Given the description of an element on the screen output the (x, y) to click on. 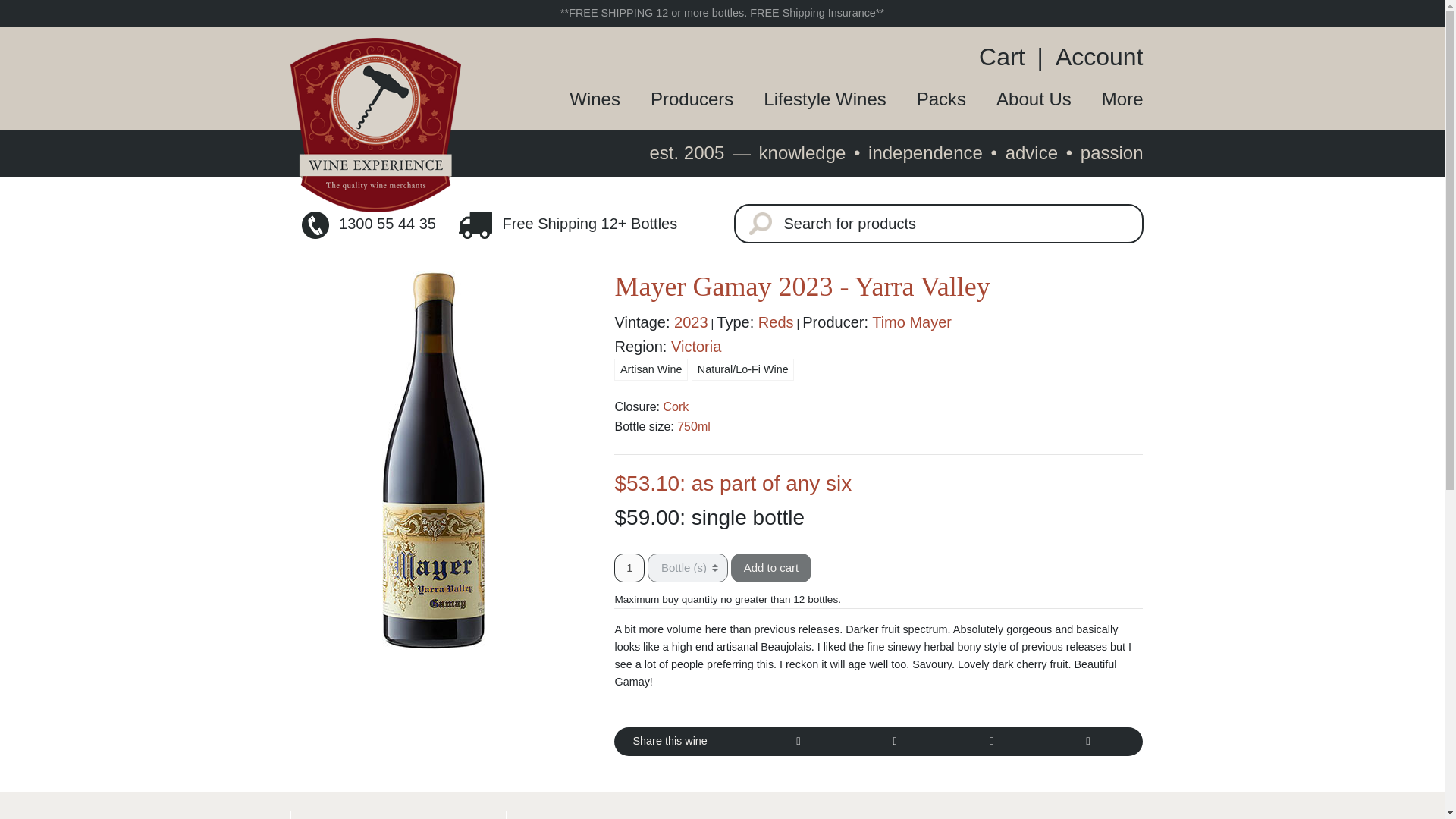
1 (629, 567)
Add to cart (771, 567)
Account (1092, 56)
Wines (579, 98)
Cart (1007, 56)
